Given the description of an element on the screen output the (x, y) to click on. 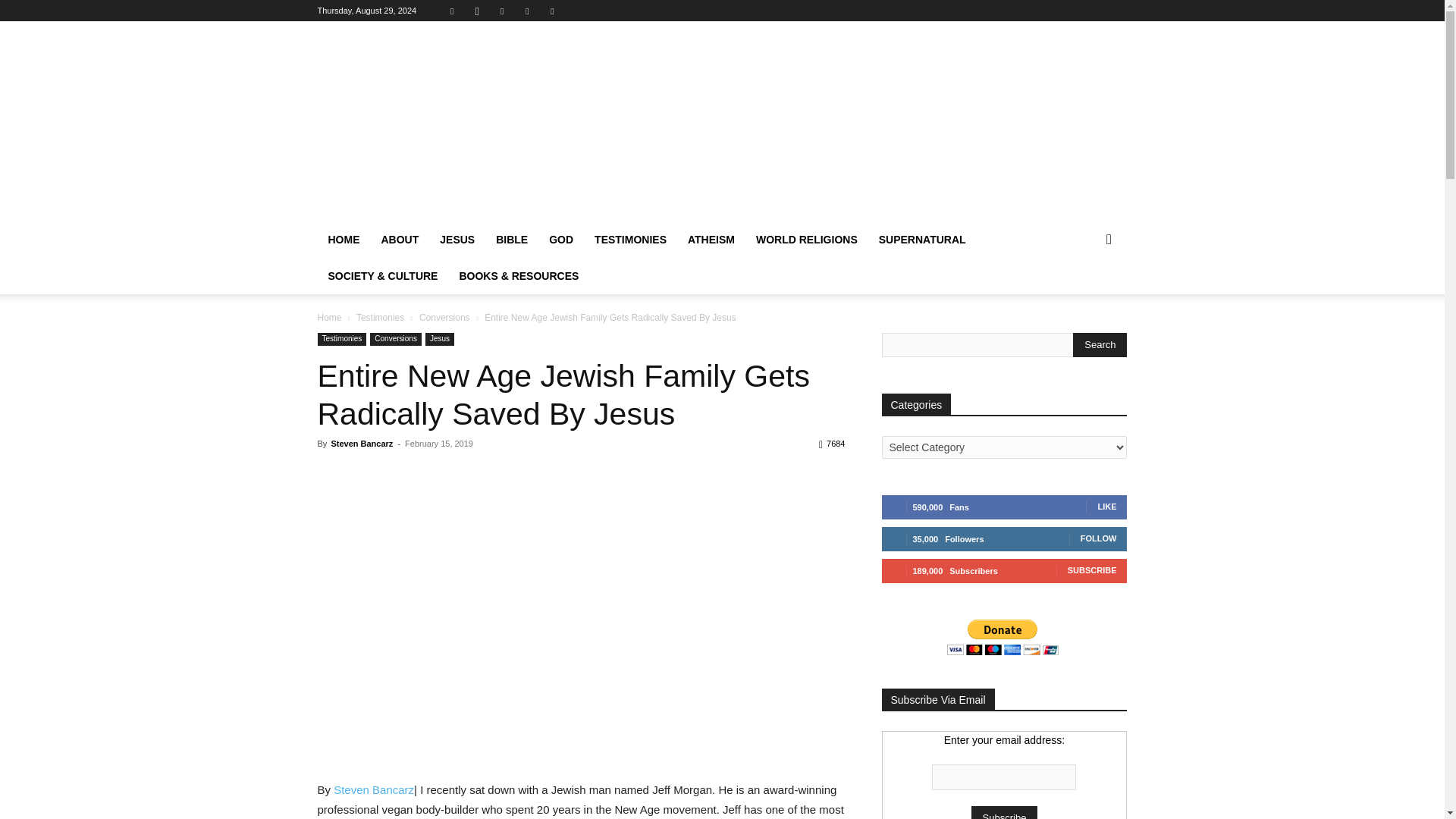
View all posts in Conversions (444, 317)
Twitter (526, 10)
Youtube (551, 10)
Facebook (452, 10)
Paypal (501, 10)
Search (1099, 344)
View all posts in Testimonies (380, 317)
Subscribe (1004, 812)
Instagram (476, 10)
